Given the description of an element on the screen output the (x, y) to click on. 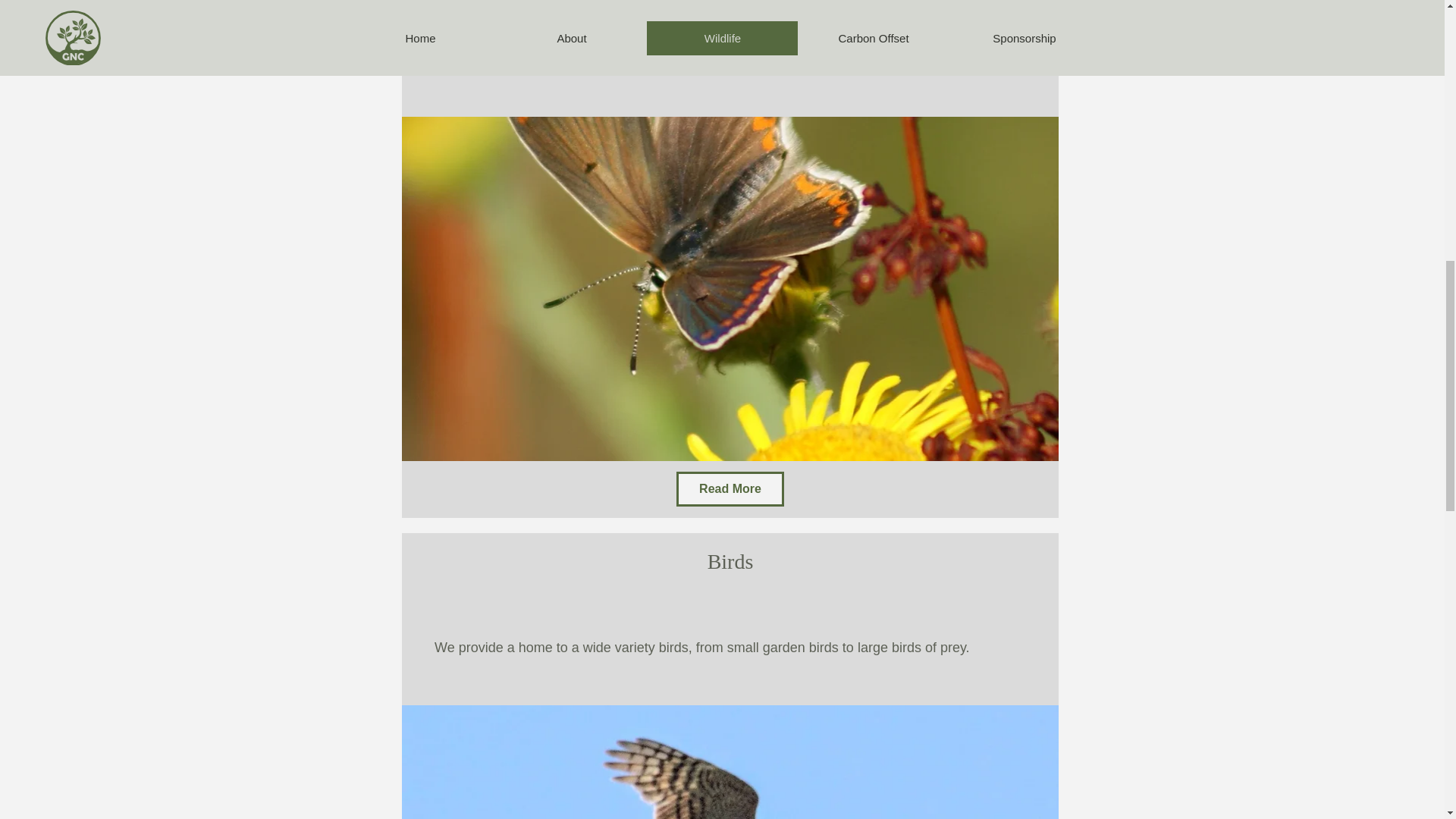
Read More (730, 488)
